Given the description of an element on the screen output the (x, y) to click on. 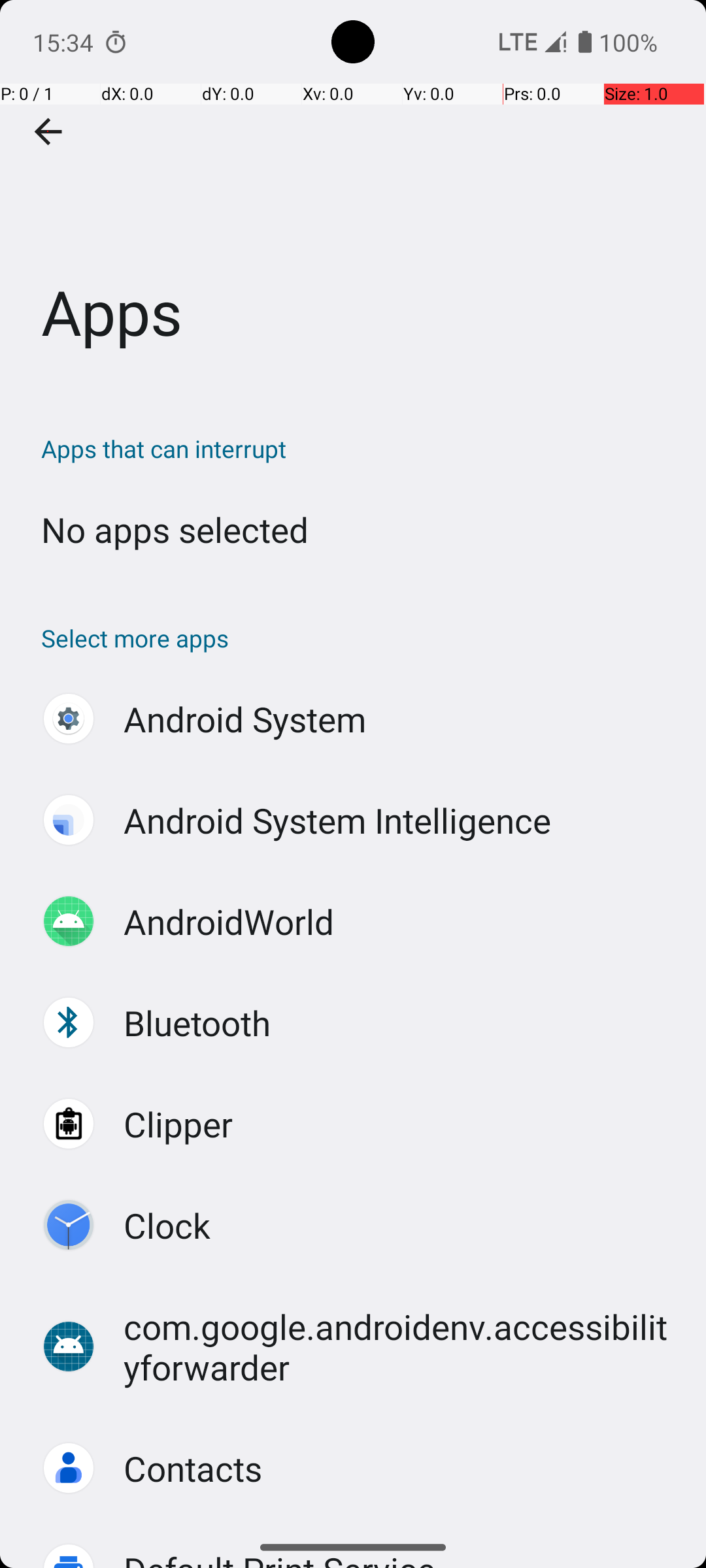
Apps that can interrupt Element type: android.widget.TextView (359, 448)
No apps selected Element type: android.widget.TextView (174, 529)
Select more apps Element type: android.widget.TextView (359, 637)
Android System Element type: android.widget.TextView (244, 718)
Android System Intelligence Element type: android.widget.TextView (337, 820)
AndroidWorld Element type: android.widget.TextView (228, 921)
Bluetooth Element type: android.widget.TextView (197, 1022)
Clipper Element type: android.widget.TextView (177, 1123)
com.google.androidenv.accessibilityforwarder Element type: android.widget.TextView (400, 1346)
